Given the description of an element on the screen output the (x, y) to click on. 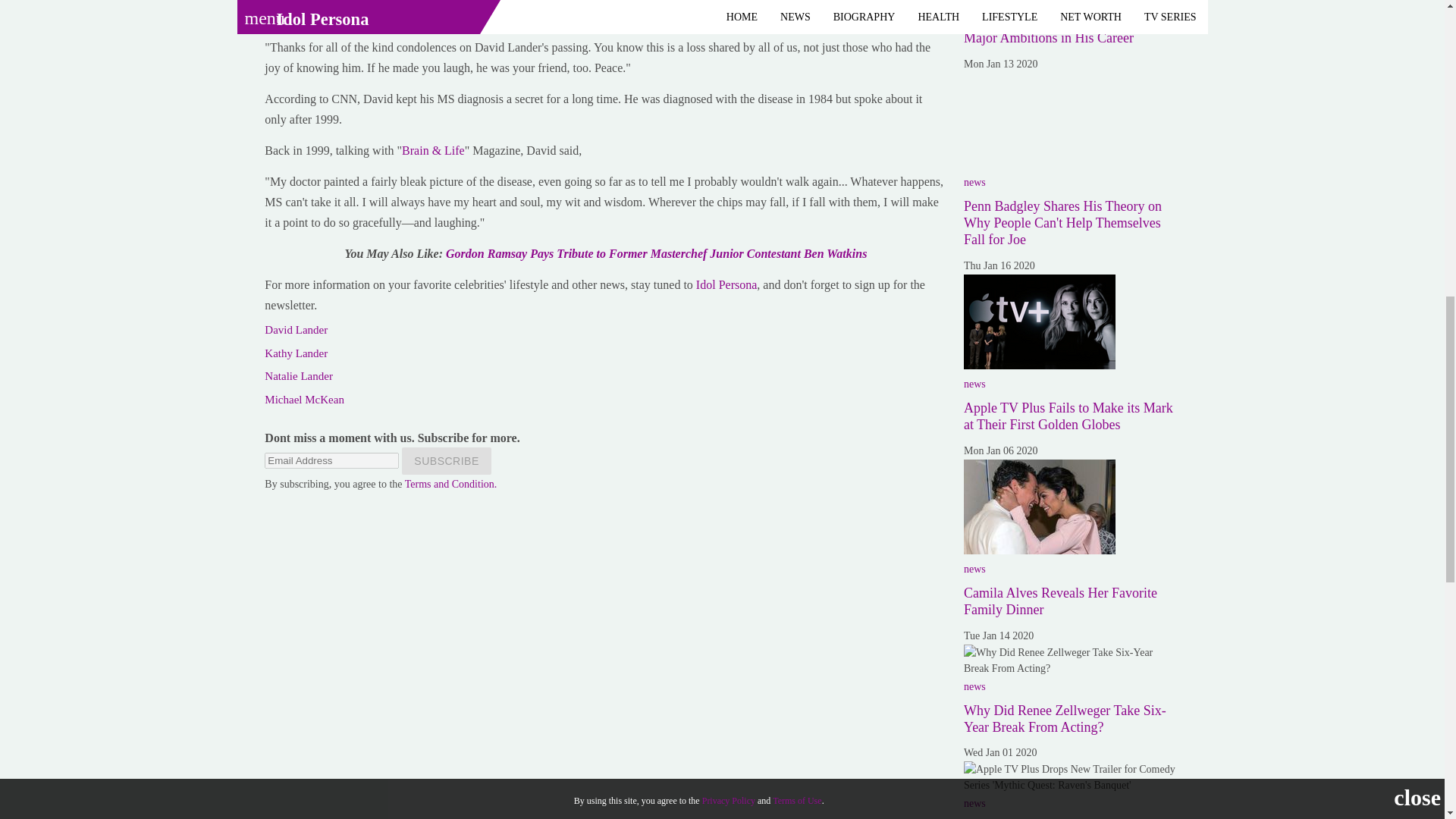
David Lander (295, 329)
Camila Alves Reveals Her Favorite Family Dinner (1060, 601)
Kathy Lander (295, 353)
Idol Persona (726, 284)
Natalie Lander (298, 376)
Why Did Renee Zellweger Take Six-Year Break From Acting? (1064, 718)
Why Did Renee Zellweger Take Six-Year Break From Acting? (1071, 660)
Camila Alves Reveals Her Favorite Family Dinner (1039, 506)
